Given the description of an element on the screen output the (x, y) to click on. 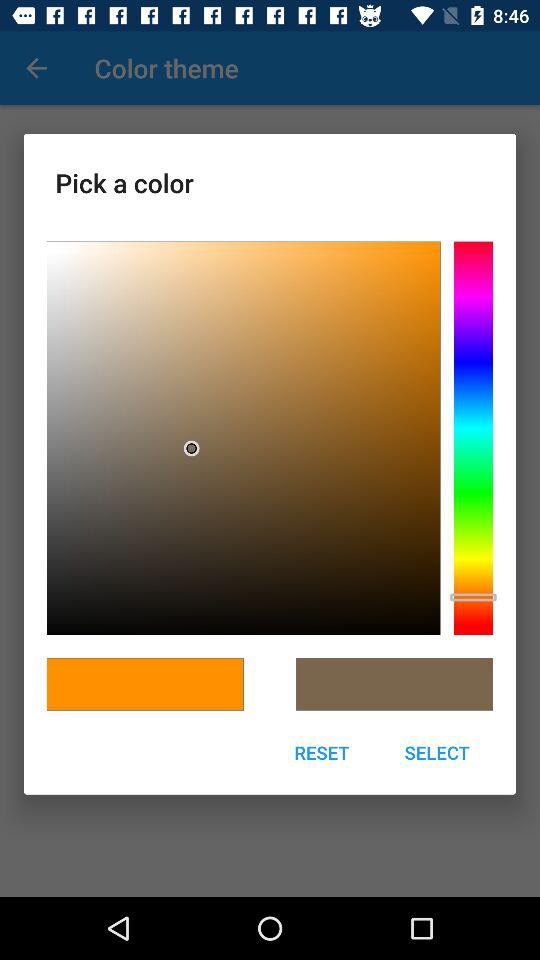
swipe until select item (437, 752)
